Given the description of an element on the screen output the (x, y) to click on. 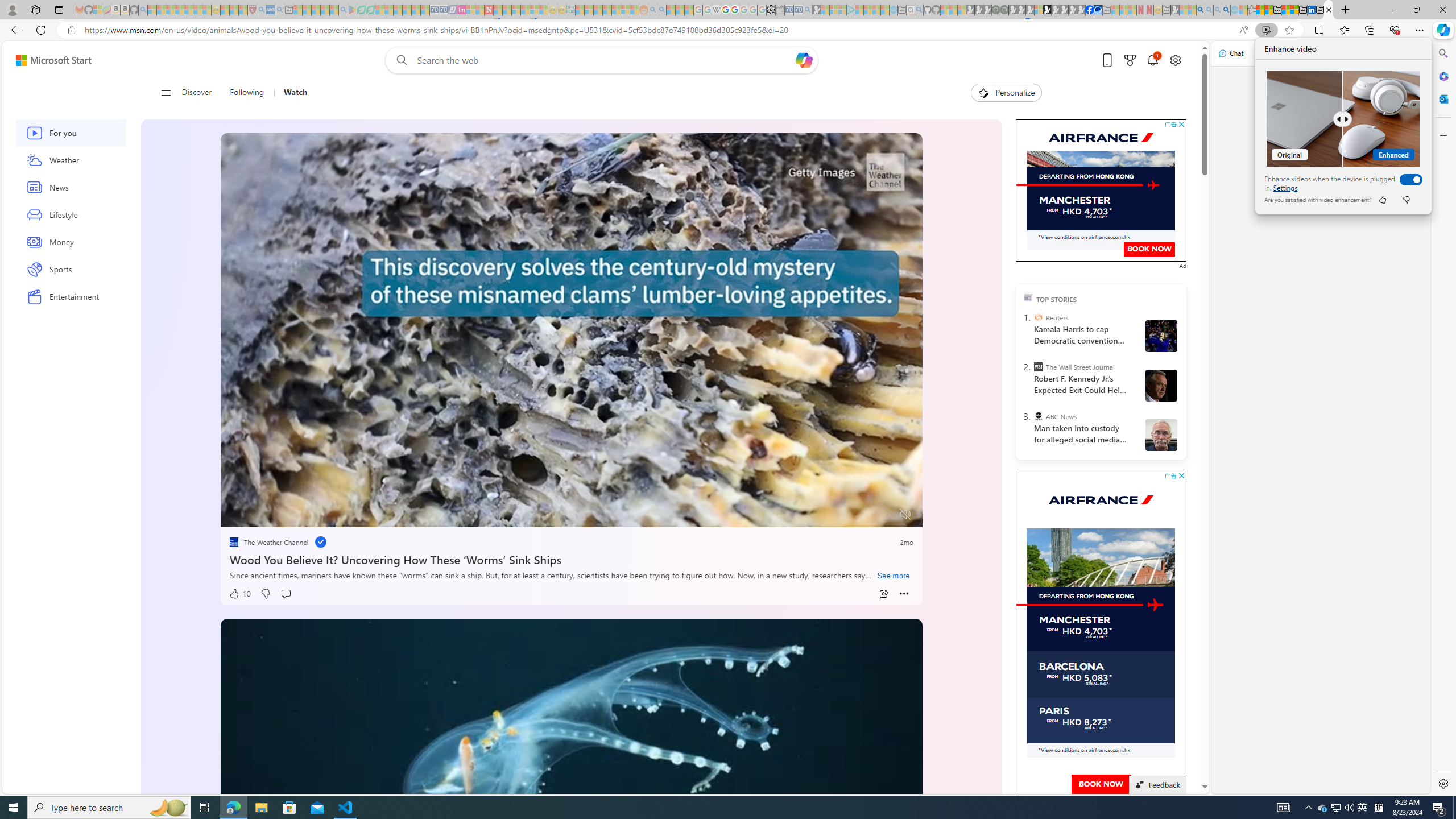
Favorites - Sleeping (1251, 9)
Microsoft Store (289, 807)
Microsoft-Report a Concern to Bing - Sleeping (97, 9)
